Given the description of an element on the screen output the (x, y) to click on. 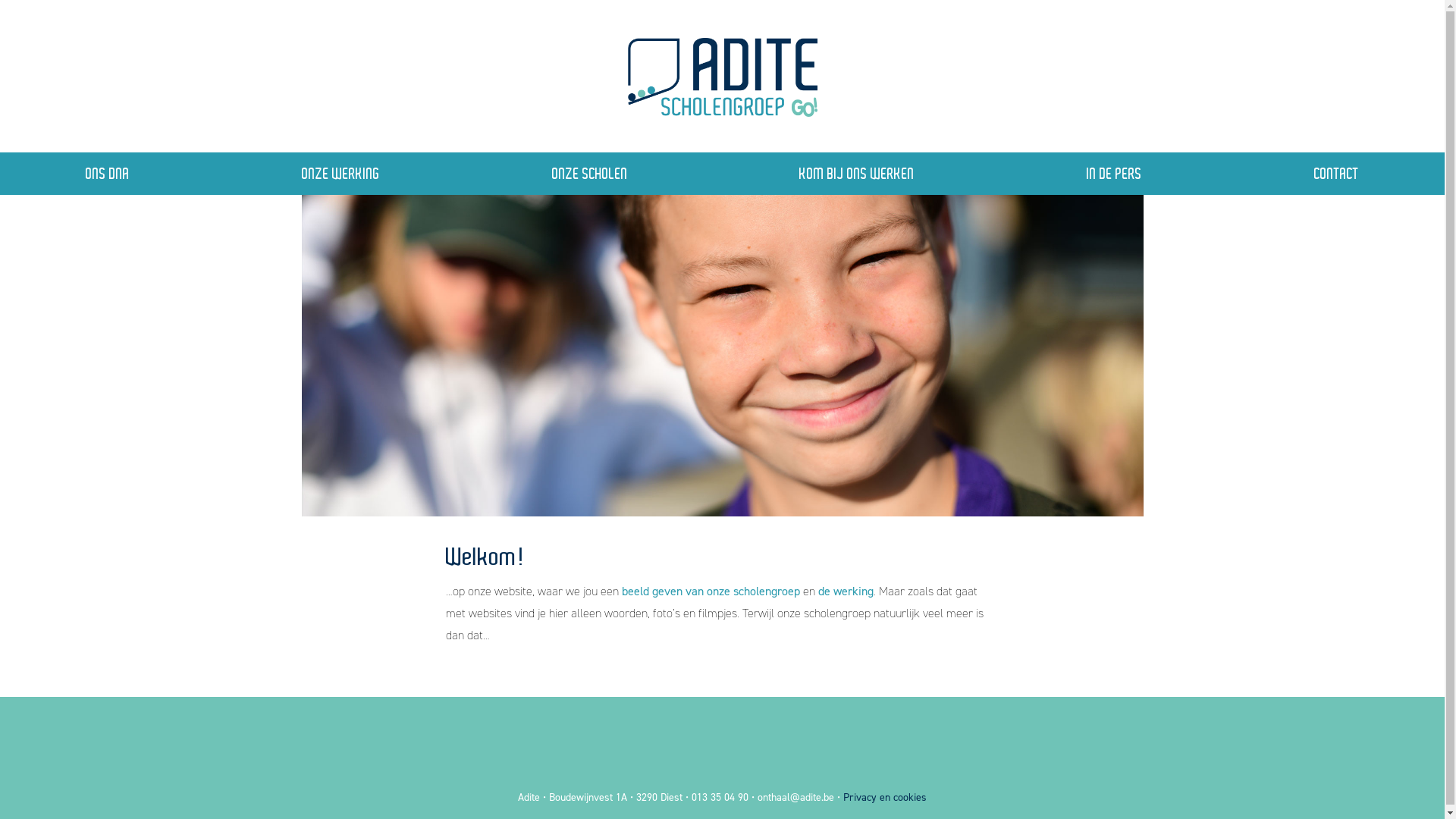
IN DE PERS Element type: text (1114, 173)
Privacy en cookies Element type: text (884, 797)
ONZE SCHOLEN Element type: text (589, 173)
KOM BIJ ONS WERKEN Element type: text (857, 173)
ONS DNA Element type: text (108, 173)
ONZE WERKING Element type: text (341, 173)
CONTACT Element type: text (1335, 173)
